Given the description of an element on the screen output the (x, y) to click on. 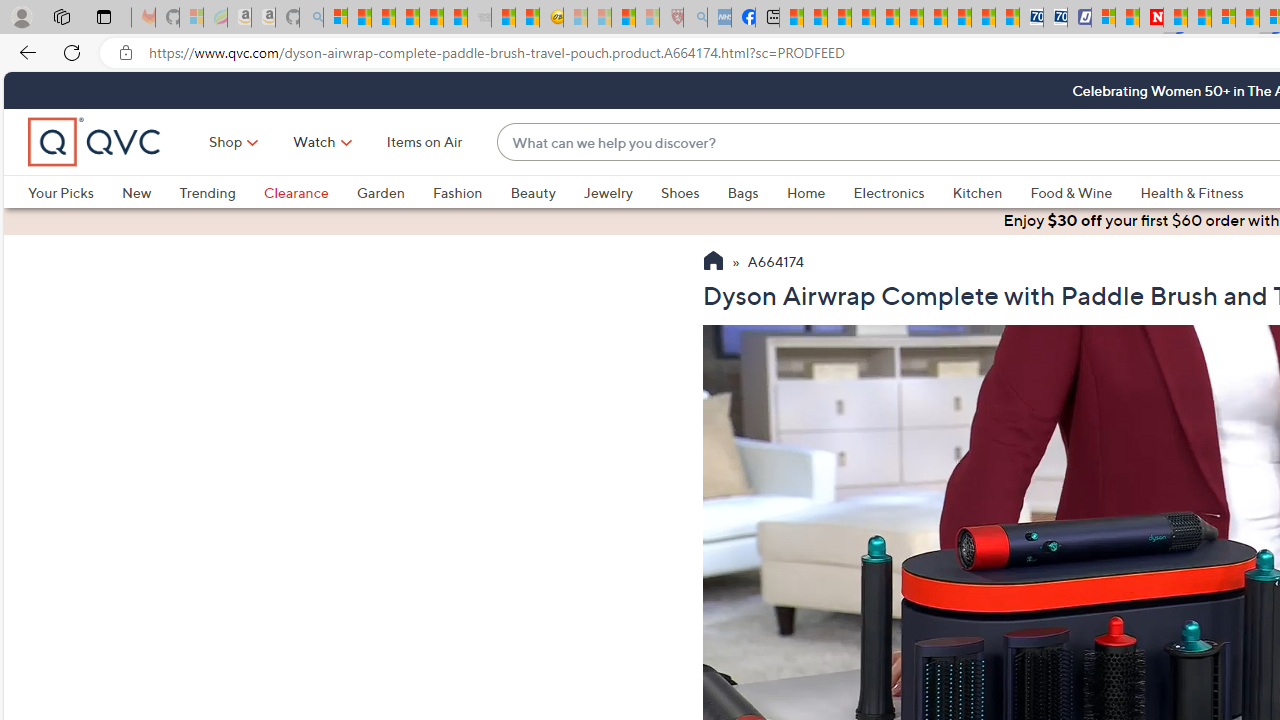
Watch (314, 141)
The Weather Channel - MSN (383, 17)
Your Picks (60, 192)
Science - MSN (622, 17)
Shoes (694, 192)
Fashion (457, 192)
Cheap Hotels - Save70.com (1055, 17)
